Given the description of an element on the screen output the (x, y) to click on. 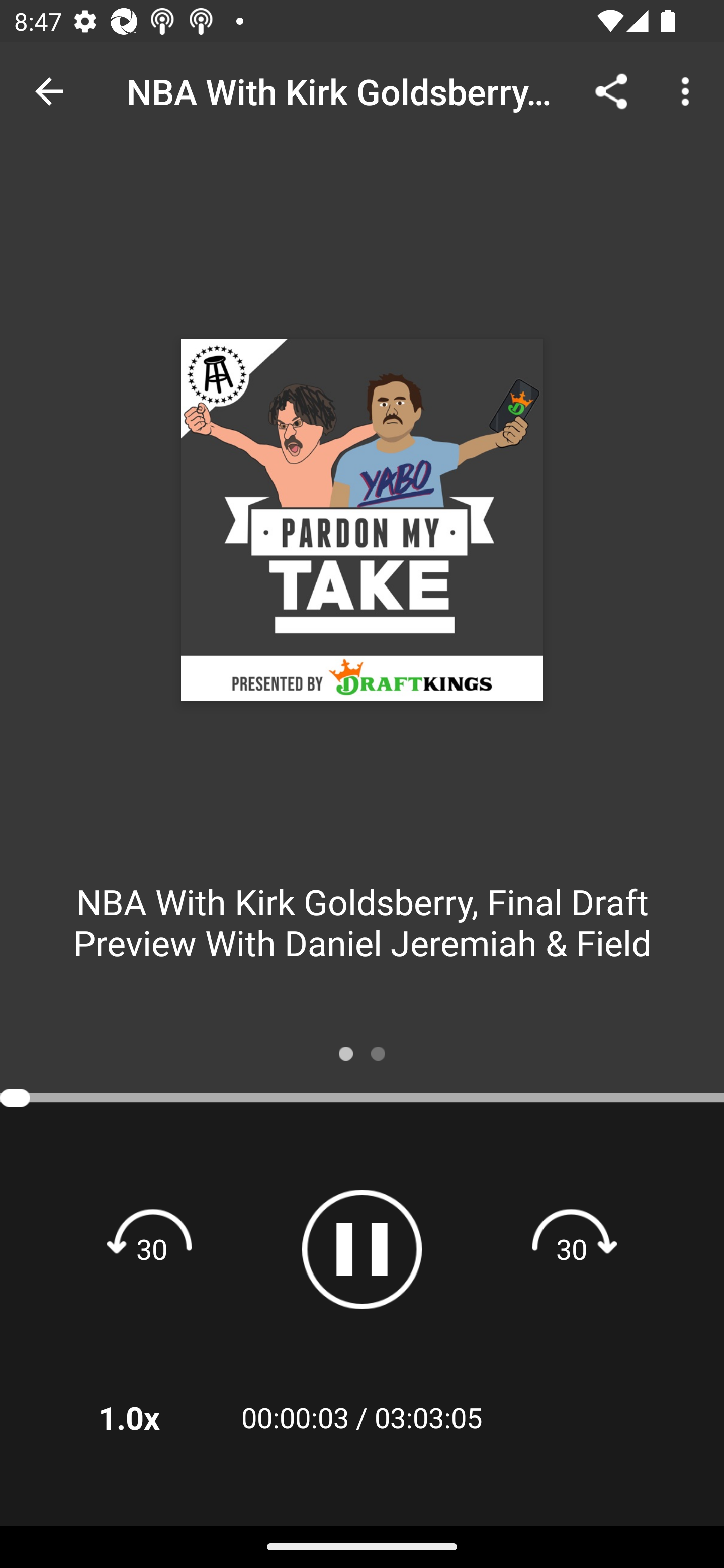
Navigate up (49, 91)
Share... (611, 90)
More options (688, 90)
Pause (361, 1249)
Rewind (151, 1248)
Fast forward (571, 1248)
1.0x Playback Speeds (154, 1417)
03:03:05 (428, 1417)
